Given the description of an element on the screen output the (x, y) to click on. 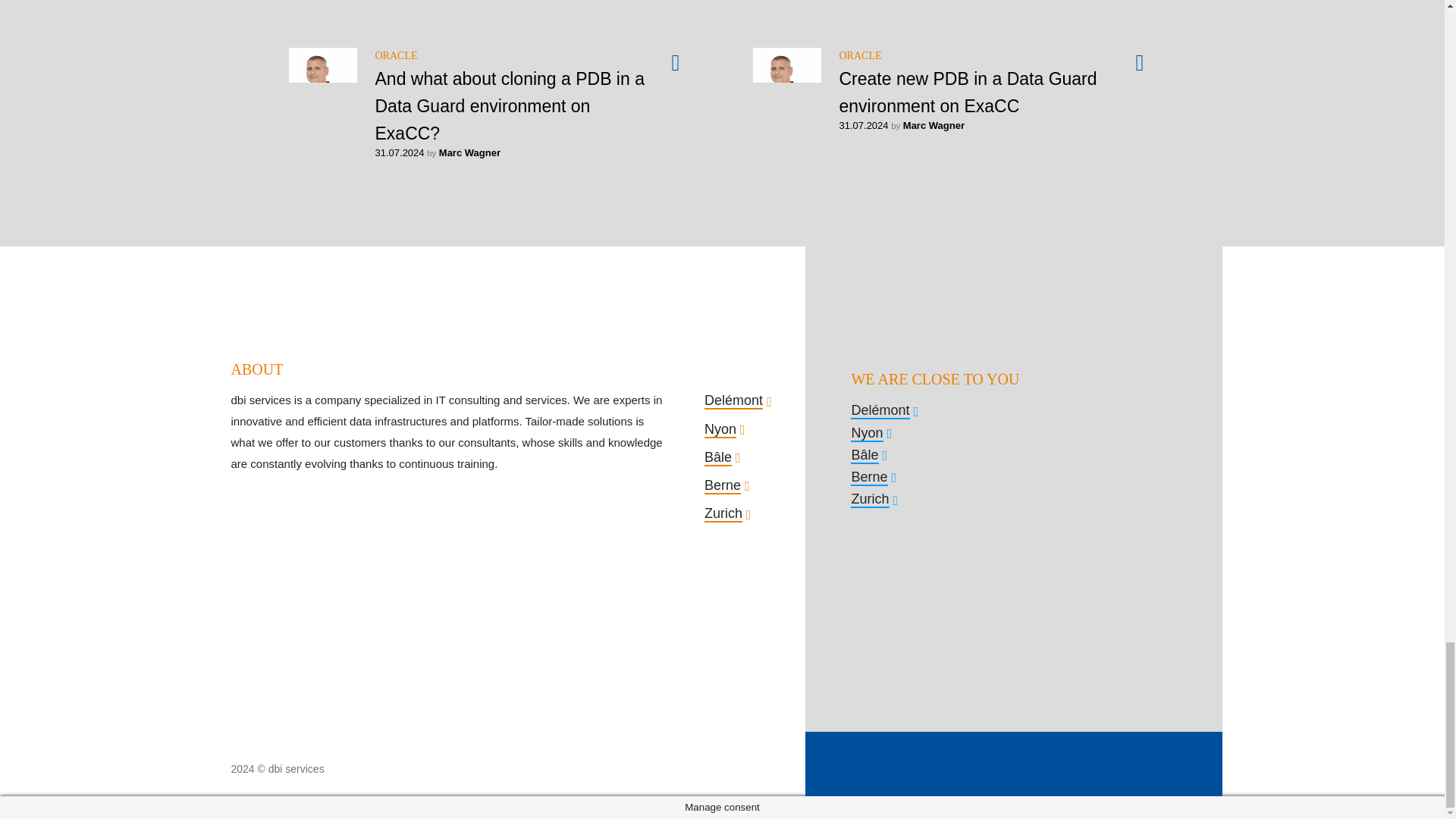
Marc Wagner (469, 152)
ORACLE (395, 55)
